Given the description of an element on the screen output the (x, y) to click on. 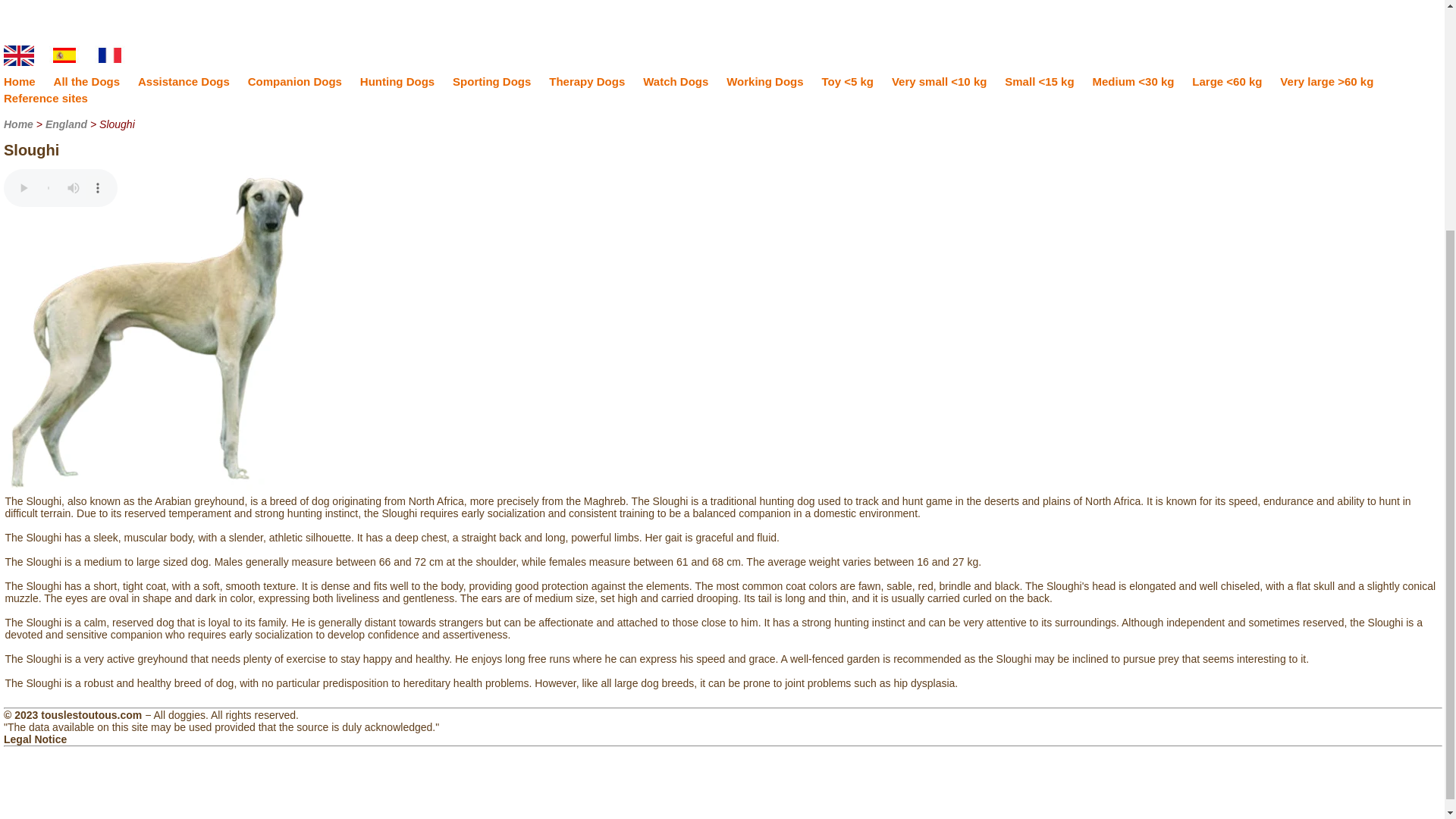
All the Dogs (86, 81)
All the Dogs (86, 81)
Sporting Dogs (491, 81)
Working dogs (764, 81)
Assistance Dogs (184, 81)
Very large dogs (1326, 81)
Home touslestoutous.com (19, 81)
Reference sites (45, 97)
Therapy Dogs (586, 81)
Hunting dogs (396, 81)
England (66, 123)
Very small dogs (939, 81)
Watch dogs (675, 81)
Home (19, 81)
Legal Notice (35, 739)
